Given the description of an element on the screen output the (x, y) to click on. 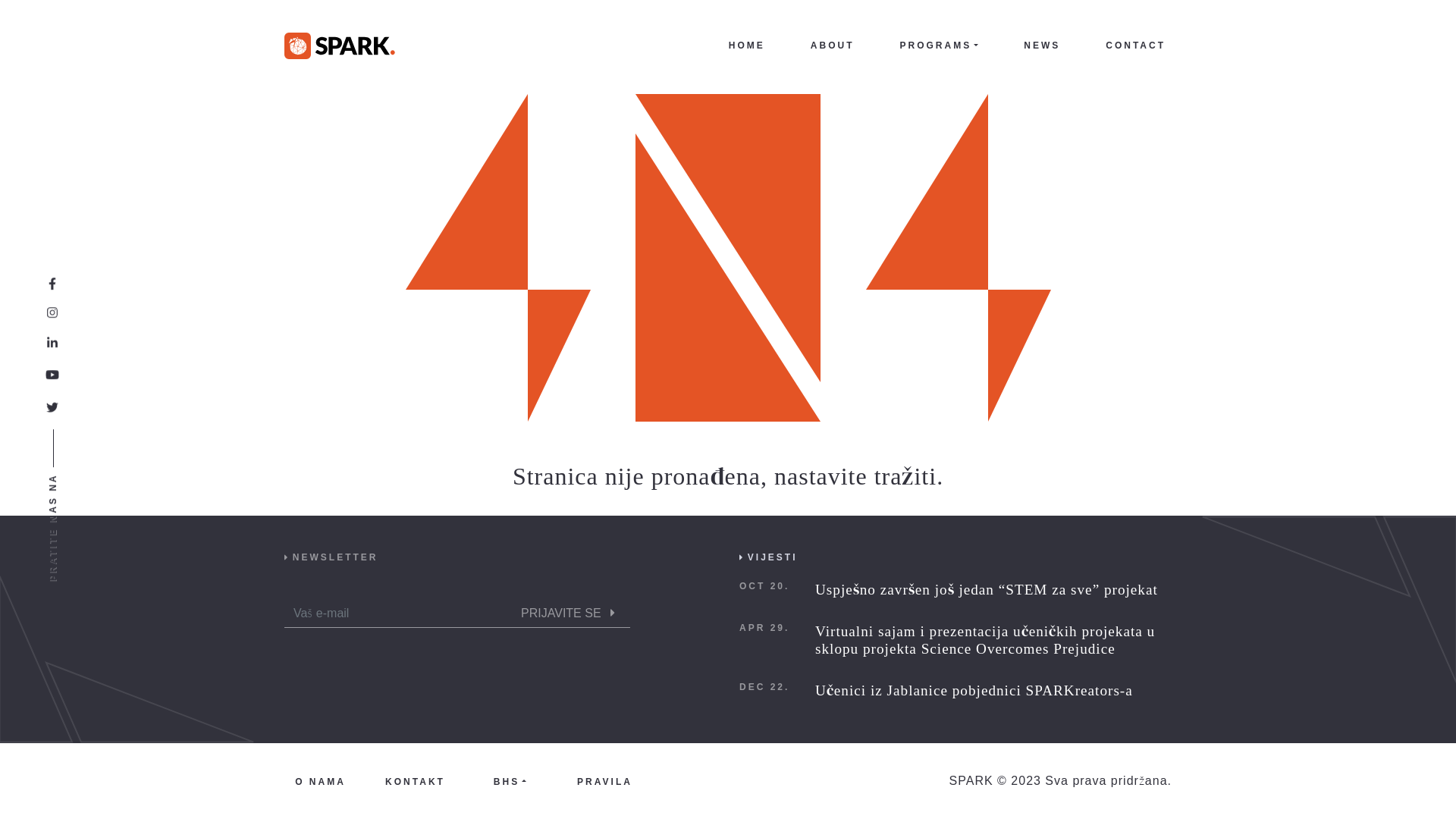
PRIJAVITE SE Element type: text (570, 613)
VIJESTI Element type: text (772, 557)
BHS Element type: text (509, 781)
CONTACT Element type: text (1135, 45)
NEWS Element type: text (1041, 45)
PROGRAMS Element type: text (938, 45)
KONTAKT Element type: text (415, 780)
ABOUT Element type: text (832, 45)
O NAMA Element type: text (320, 780)
BHS Element type: text (509, 780)
HOME Element type: text (746, 45)
PRAVILA Element type: text (604, 780)
